Given the description of an element on the screen output the (x, y) to click on. 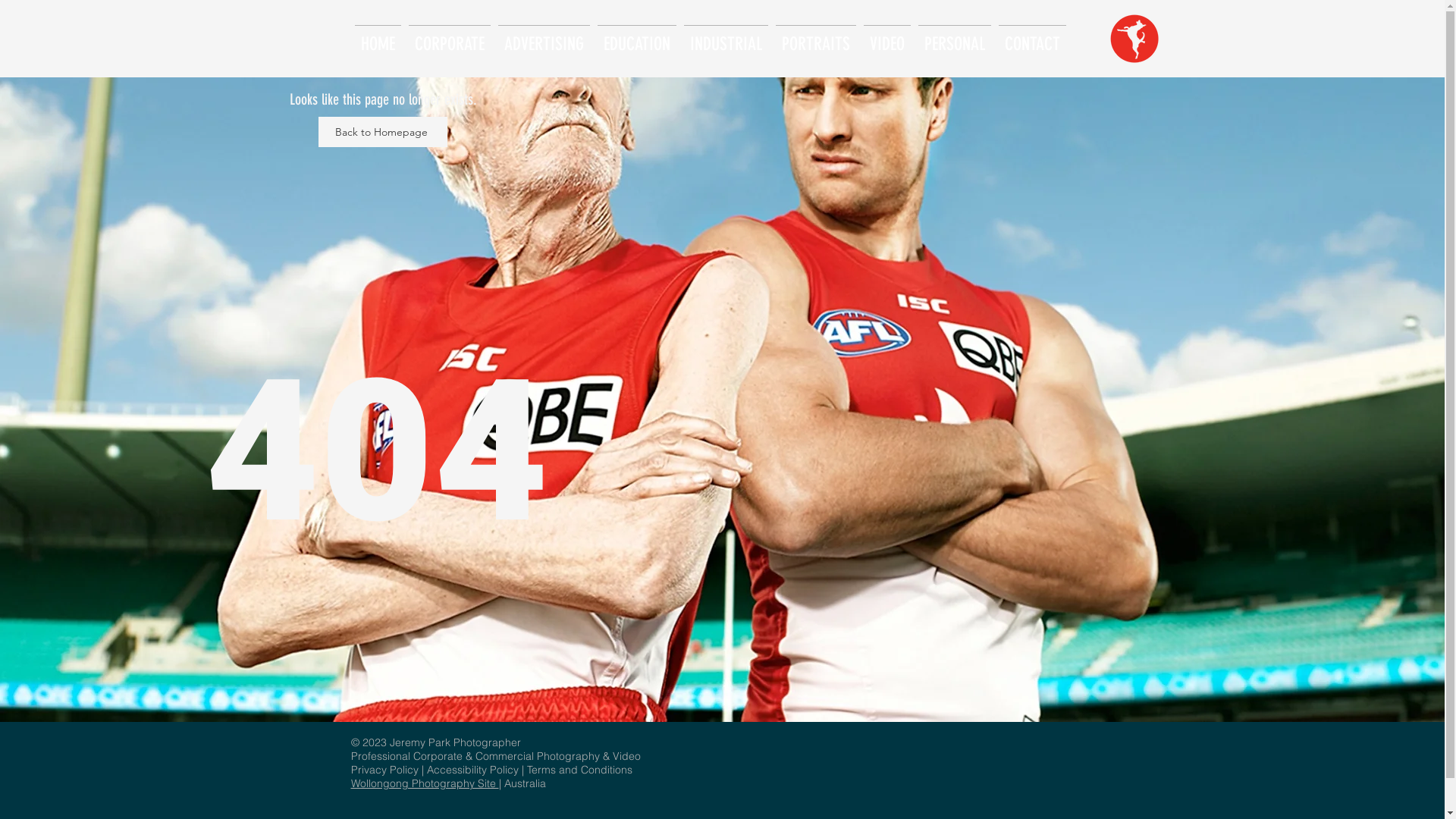
Wollongong Photography Site Element type: text (424, 783)
Privacy Policy Element type: text (385, 769)
EDUCATION Element type: text (636, 37)
Back to Homepage Element type: text (382, 131)
CORPORATE Element type: text (449, 37)
CONTACT Element type: text (1032, 37)
Jeremy Park Element type: text (421, 742)
Accessibility Policy Element type: text (471, 769)
Terms and Conditions Element type: text (578, 769)
PERSONAL Element type: text (954, 37)
VIDEO Element type: text (886, 37)
ADVERTISING Element type: text (543, 37)
PORTRAITS Element type: text (815, 37)
INDUSTRIAL Element type: text (725, 37)
HOME Element type: text (377, 37)
